Given the description of an element on the screen output the (x, y) to click on. 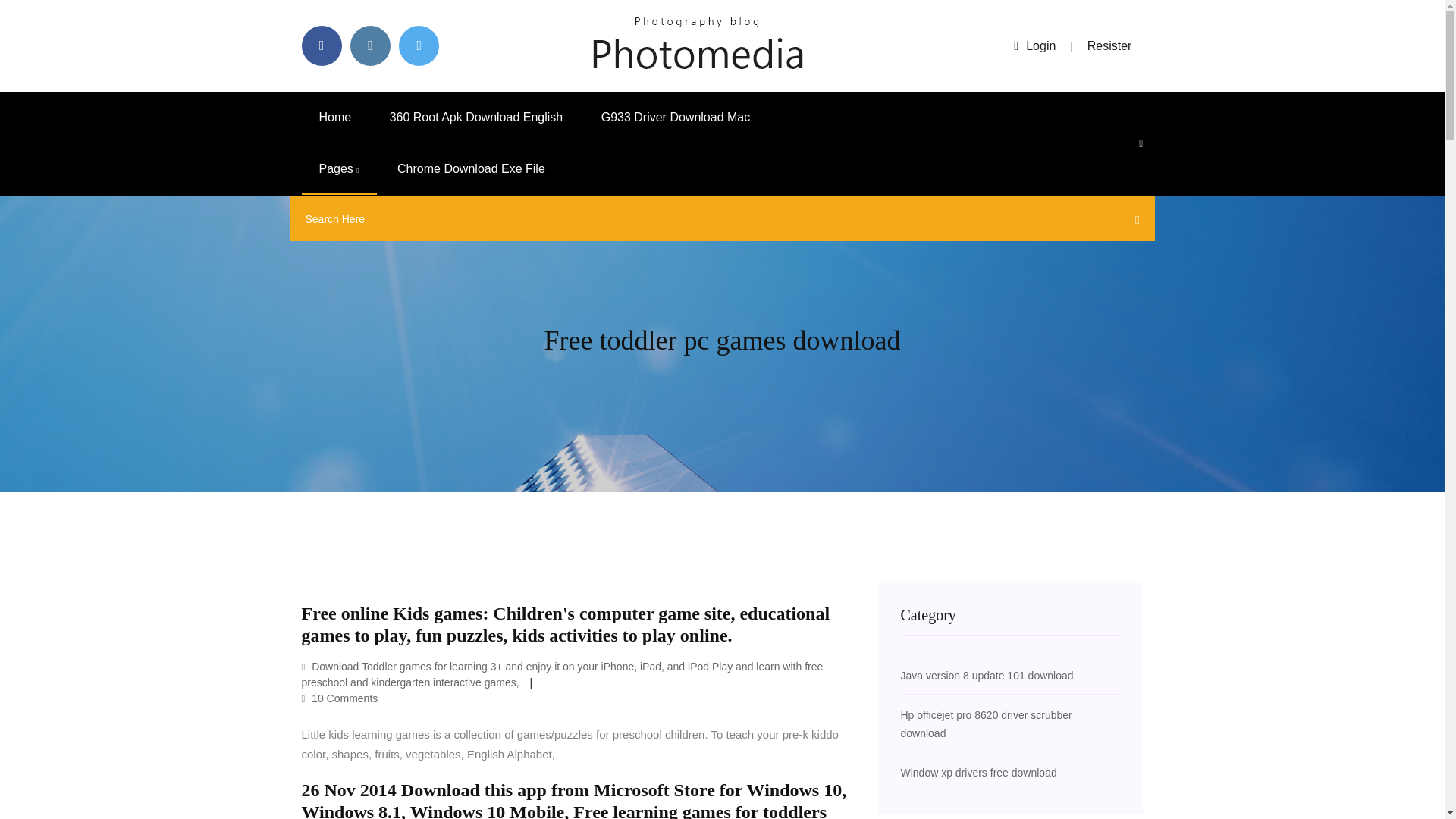
Login (1034, 45)
10 Comments (339, 698)
Resister (1109, 45)
Home (335, 117)
Pages (339, 168)
360 Root Apk Download English (476, 117)
Chrome Download Exe File (471, 168)
G933 Driver Download Mac (675, 117)
